Given the description of an element on the screen output the (x, y) to click on. 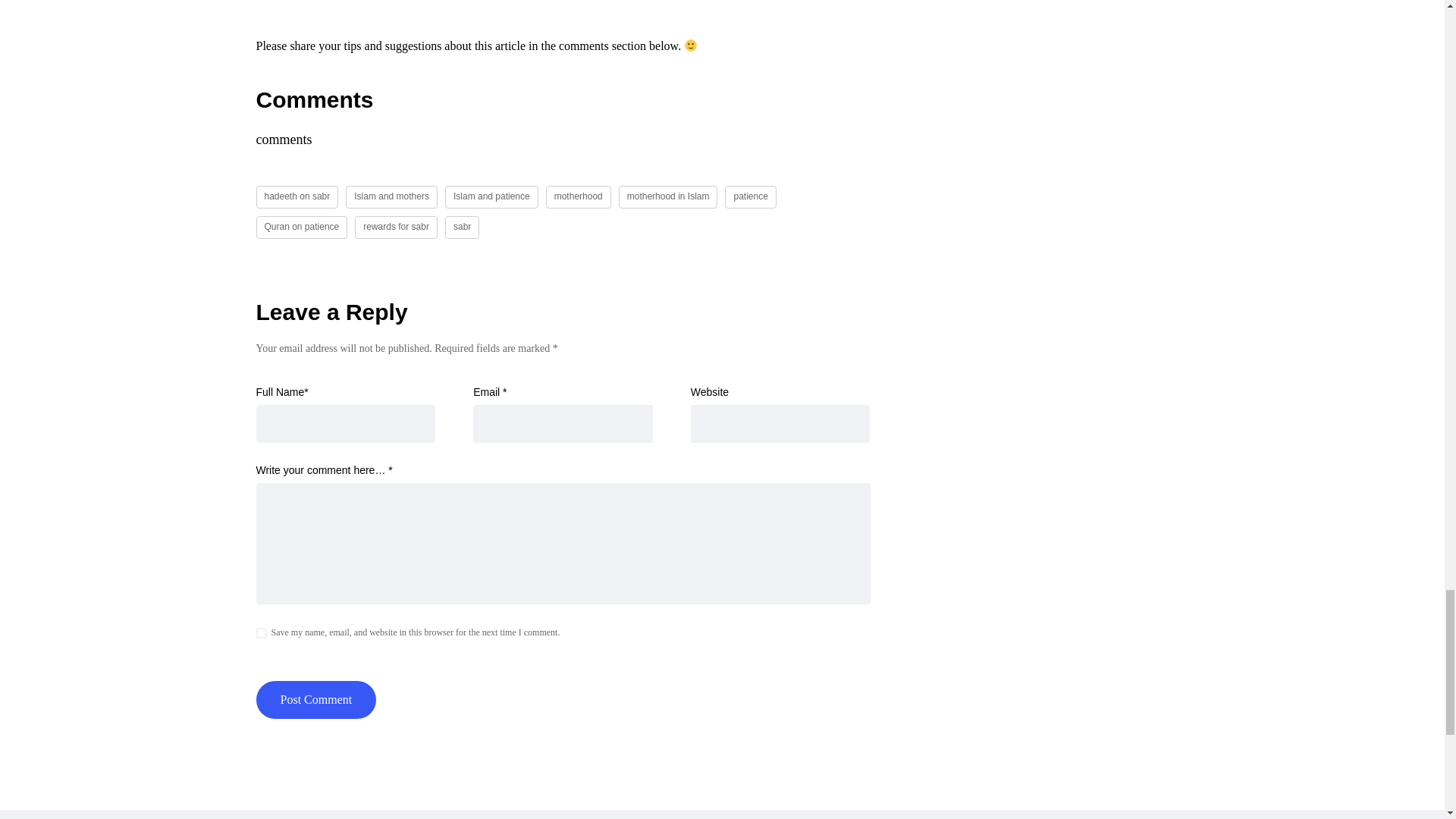
Post Comment (316, 699)
